Given the description of an element on the screen output the (x, y) to click on. 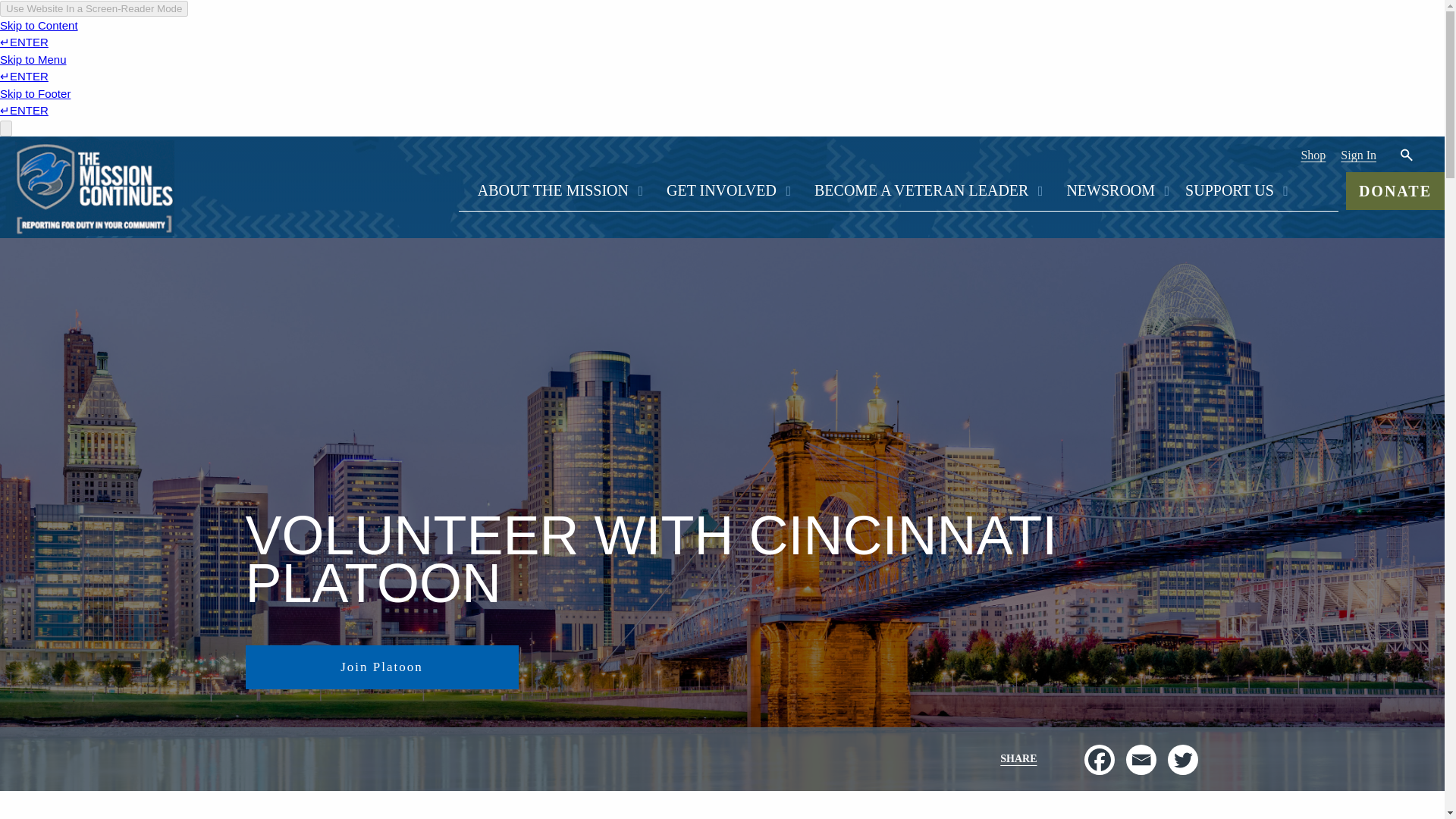
GET INVOLVED (721, 190)
Shop (1312, 155)
ABOUT THE MISSION (552, 190)
Email (1140, 759)
Twitter (1182, 759)
NEWSROOM (1110, 190)
BECOME A VETERAN LEADER (921, 190)
SUPPORT US (1225, 190)
Facebook (1099, 759)
Sign In (1358, 155)
